Given the description of an element on the screen output the (x, y) to click on. 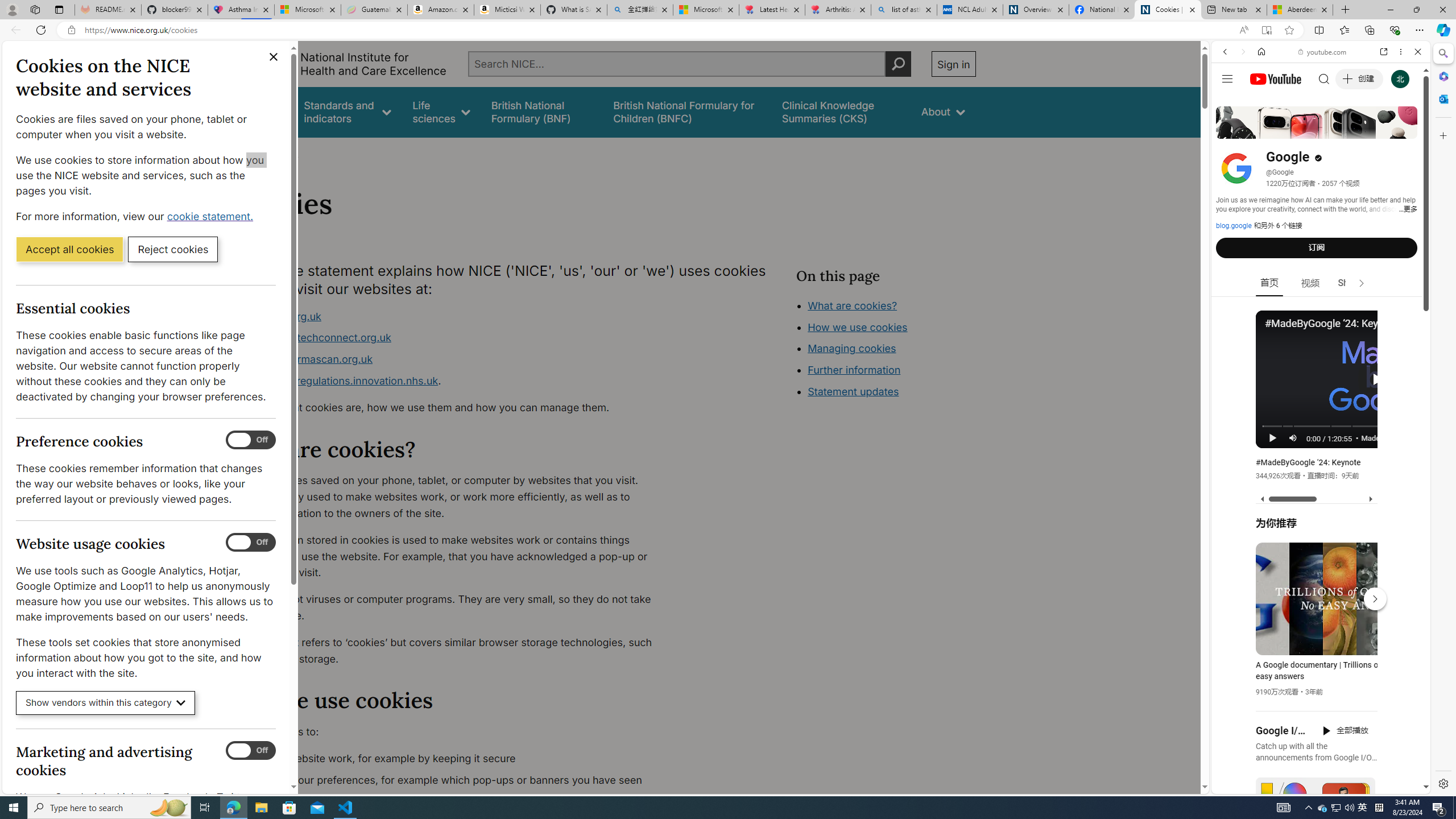
www.nice.org.uk (279, 315)
www.ukpharmascan.org.uk (452, 359)
www.healthtechconnect.org.uk (314, 337)
false (841, 111)
Search Filter, VIDEOS (1300, 129)
Search Filter, Search Tools (1350, 129)
Trailer #2 [HD] (1320, 336)
Open link in new tab (1383, 51)
Preference cookies (250, 439)
